Given the description of an element on the screen output the (x, y) to click on. 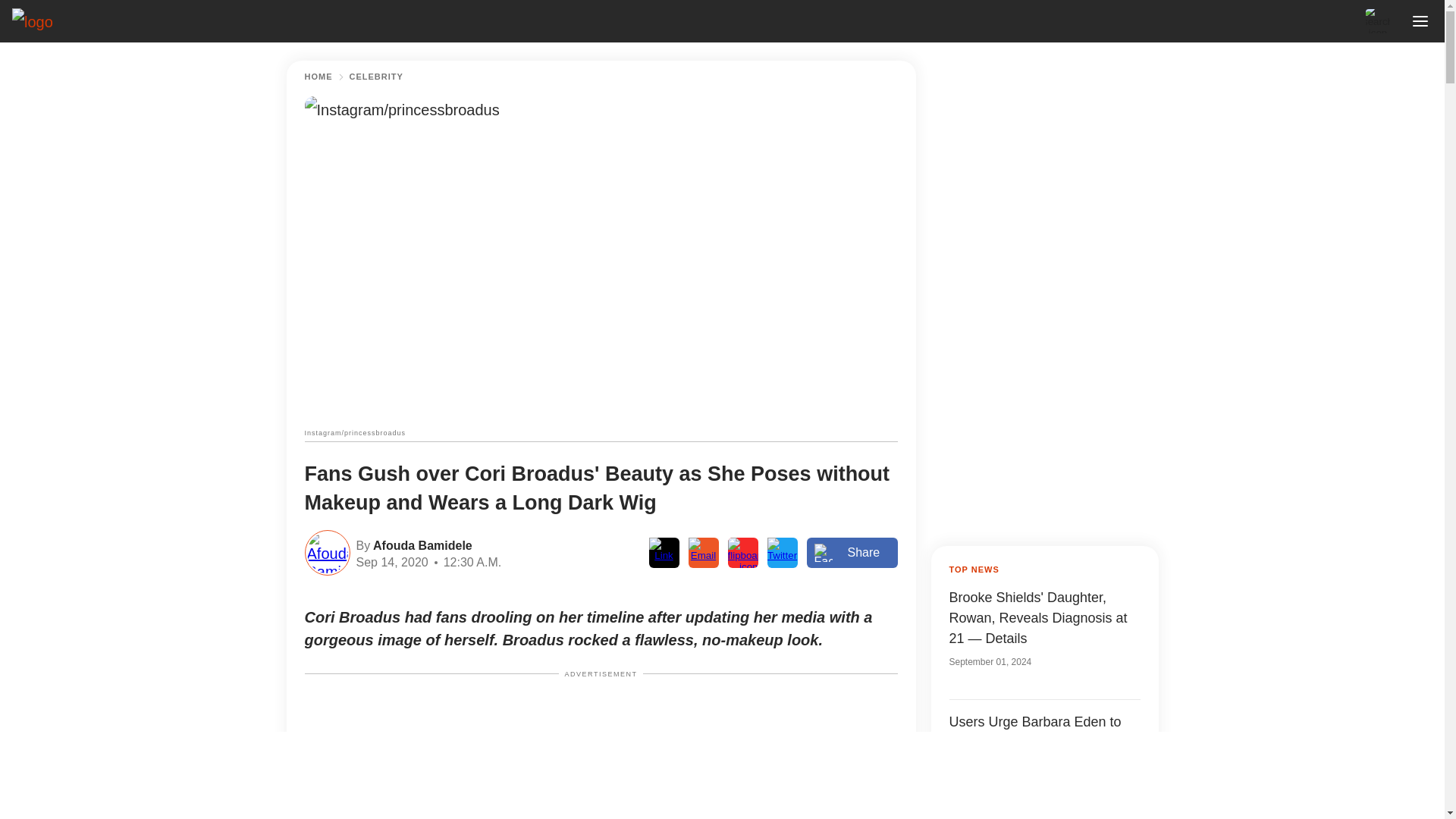
Afouda Bamidele (420, 544)
HOME (318, 76)
CELEBRITY (376, 76)
